Given the description of an element on the screen output the (x, y) to click on. 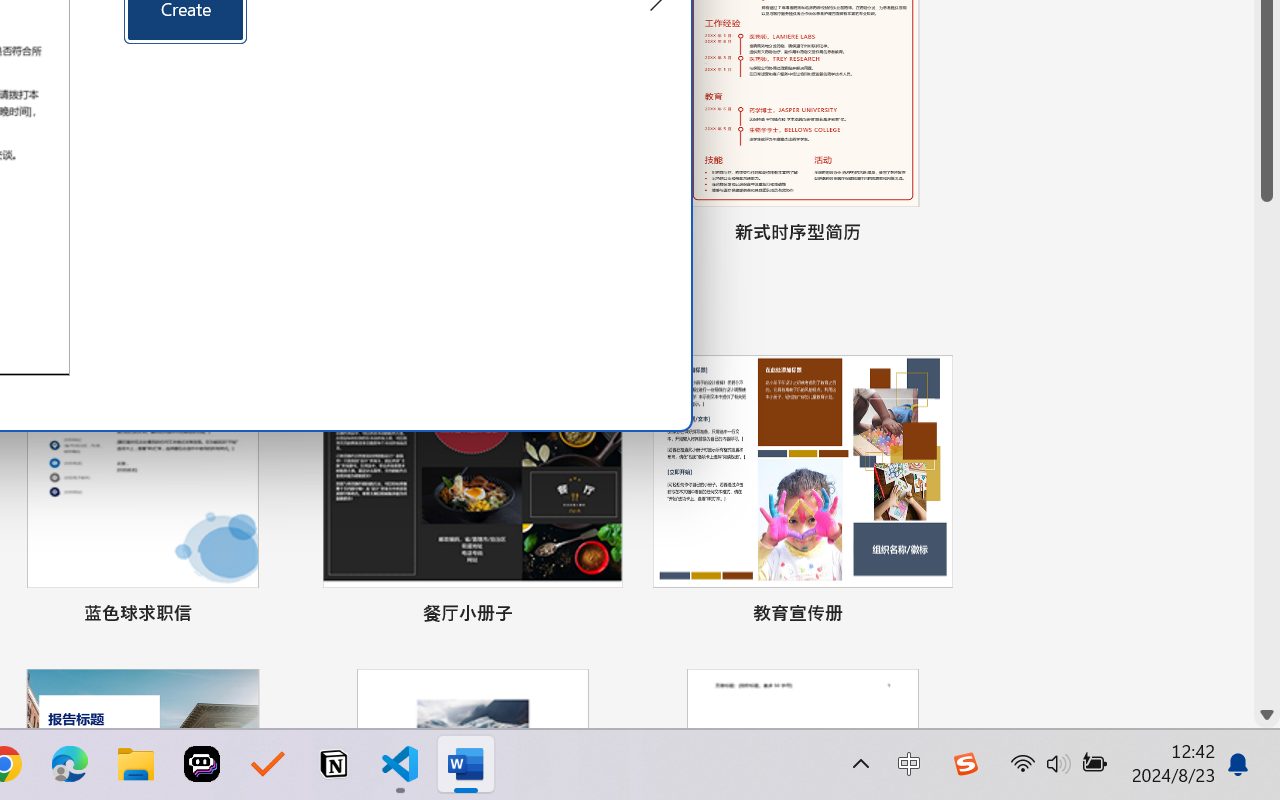
Page down (1267, 451)
Microsoft Edge (69, 764)
Line down (1267, 715)
